Given the description of an element on the screen output the (x, y) to click on. 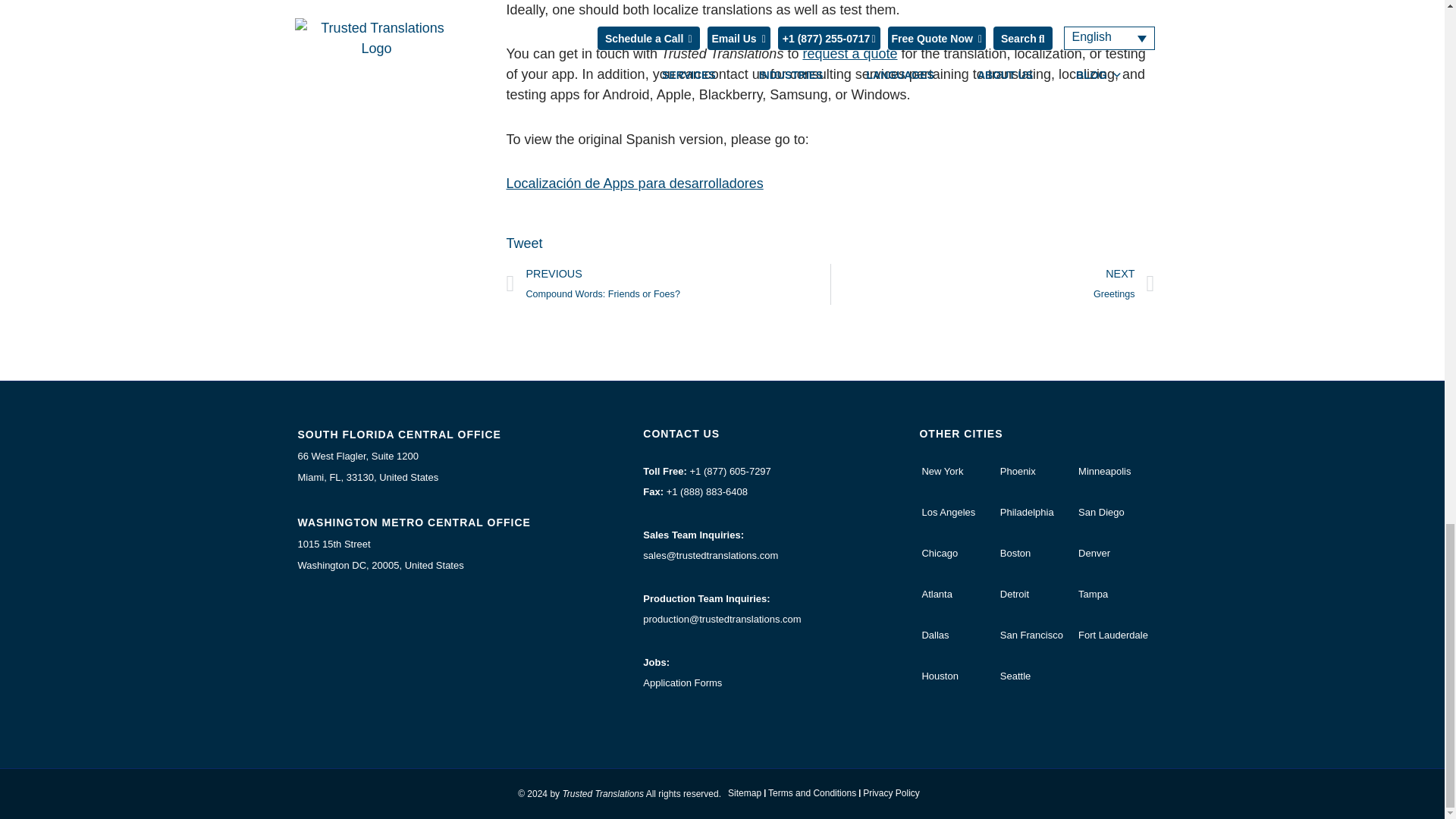
Request a Quote (849, 53)
